Given the description of an element on the screen output the (x, y) to click on. 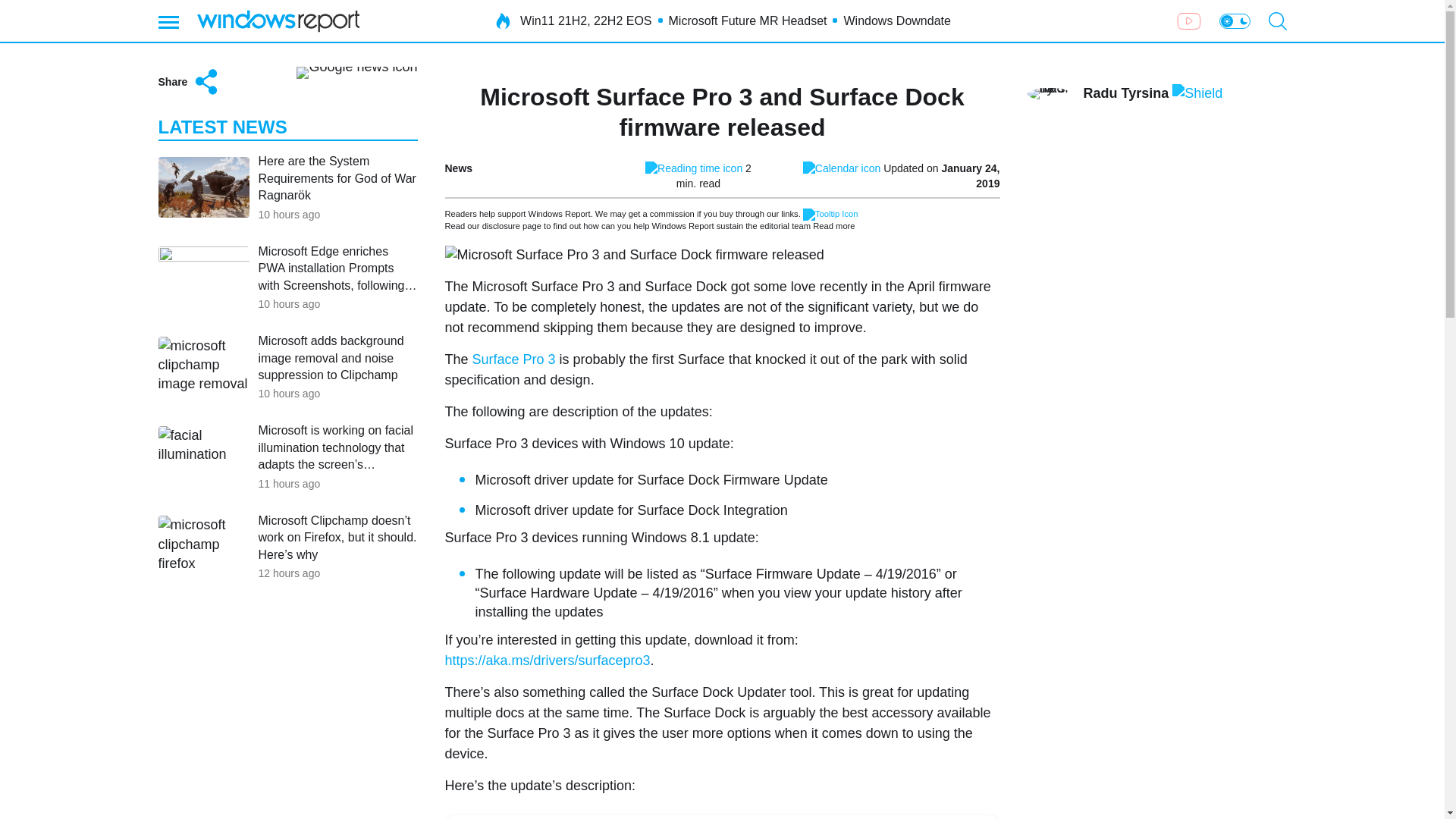
Win11 21H2, 22H2 EOS (584, 21)
Share (189, 81)
Open search bar (1276, 21)
News (457, 168)
Windows Downdate (896, 21)
Share this article (189, 81)
Microsoft Future MR Headset (747, 21)
